Given the description of an element on the screen output the (x, y) to click on. 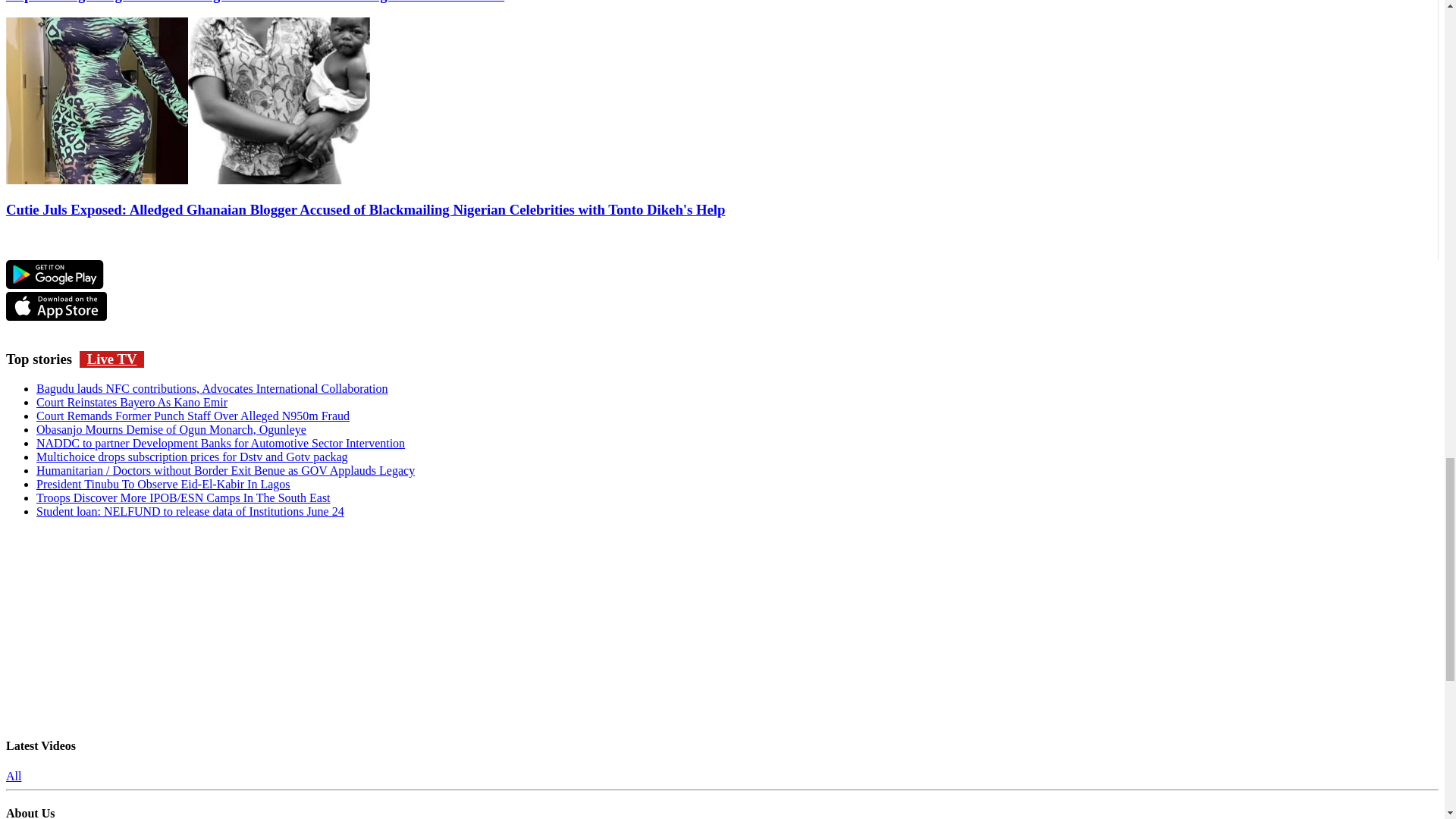
Obasanjo Mourns Demise of Ogun Monarch, Ogunleye (170, 429)
President Tinubu To Observe Eid-El-Kabir In Lagos (162, 483)
Court Reinstates Bayero As Kano Emir (131, 401)
Court Remands Former Punch Staff Over Alleged N950m Fraud (192, 415)
Advertisement (721, 625)
